Given the description of an element on the screen output the (x, y) to click on. 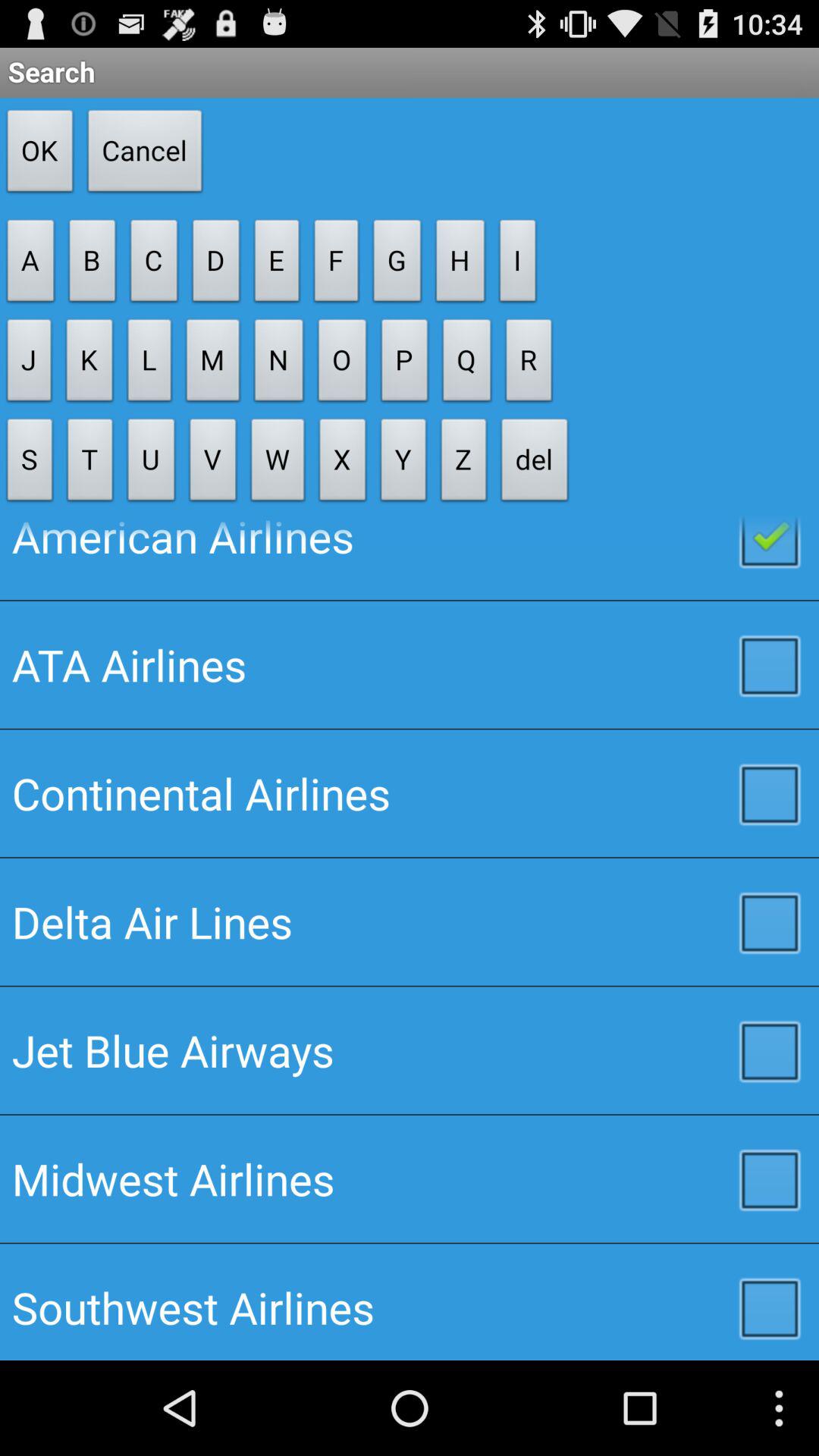
turn off the american airlines item (409, 557)
